Given the description of an element on the screen output the (x, y) to click on. 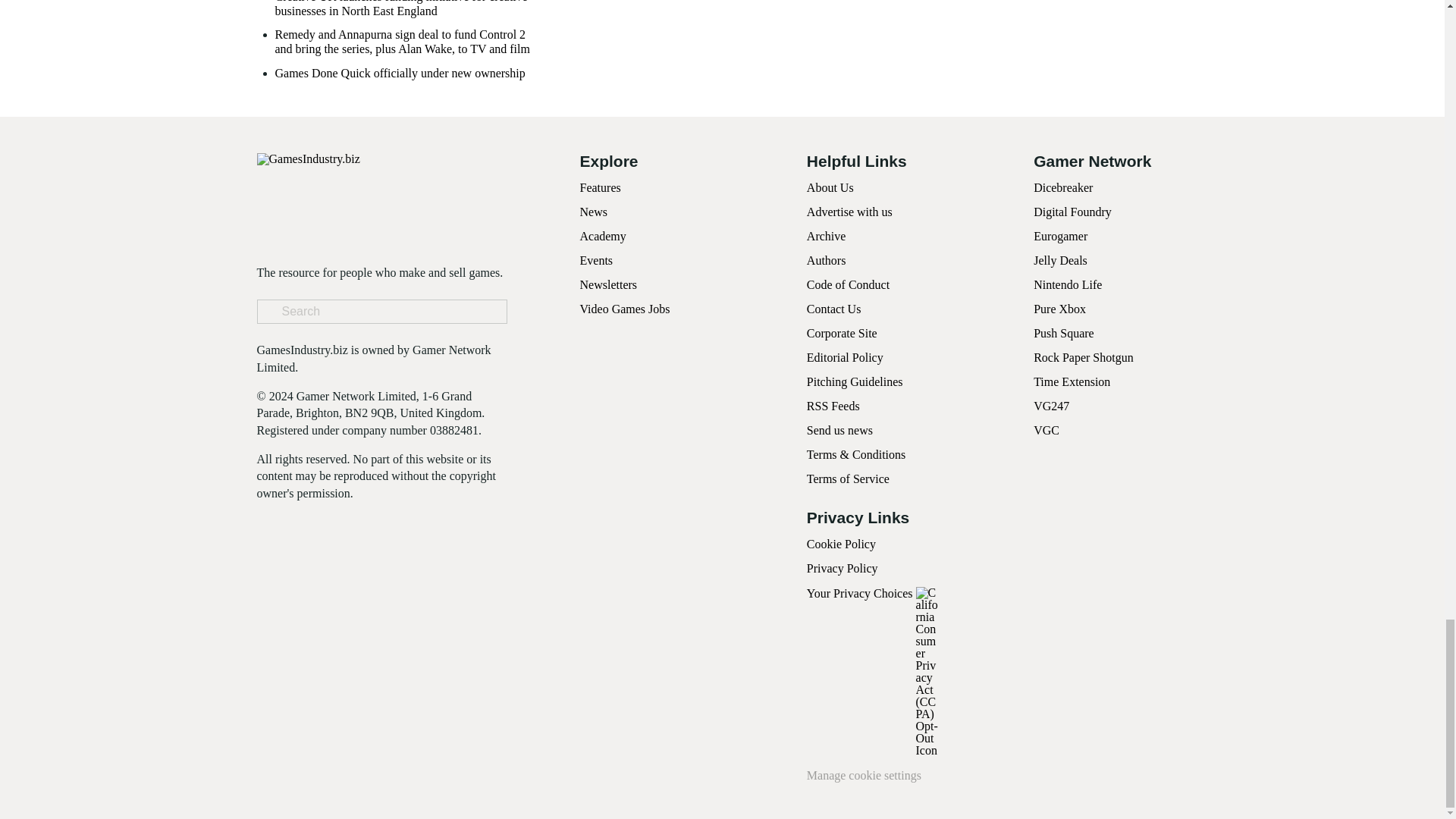
Academy (602, 236)
News (593, 211)
Video Games Jobs (624, 308)
About Us (829, 187)
Features (599, 187)
Newsletters (608, 284)
Events (595, 259)
